Given the description of an element on the screen output the (x, y) to click on. 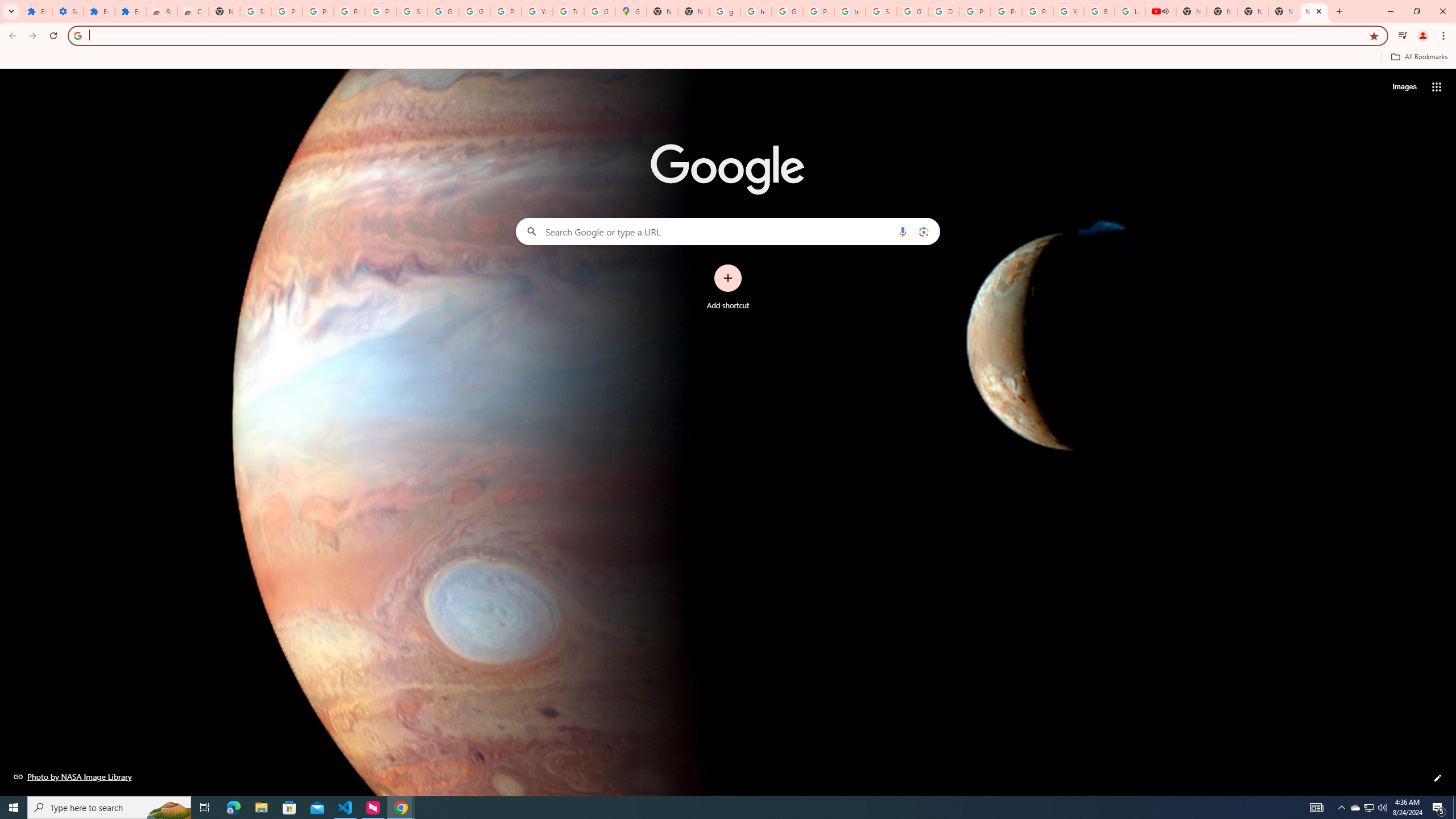
Photo by NASA Image Library (72, 776)
Customize this page (1437, 778)
Search Google or type a URL (727, 230)
Sign in - Google Accounts (411, 11)
YouTube (1068, 11)
New Tab (223, 11)
